Given the description of an element on the screen output the (x, y) to click on. 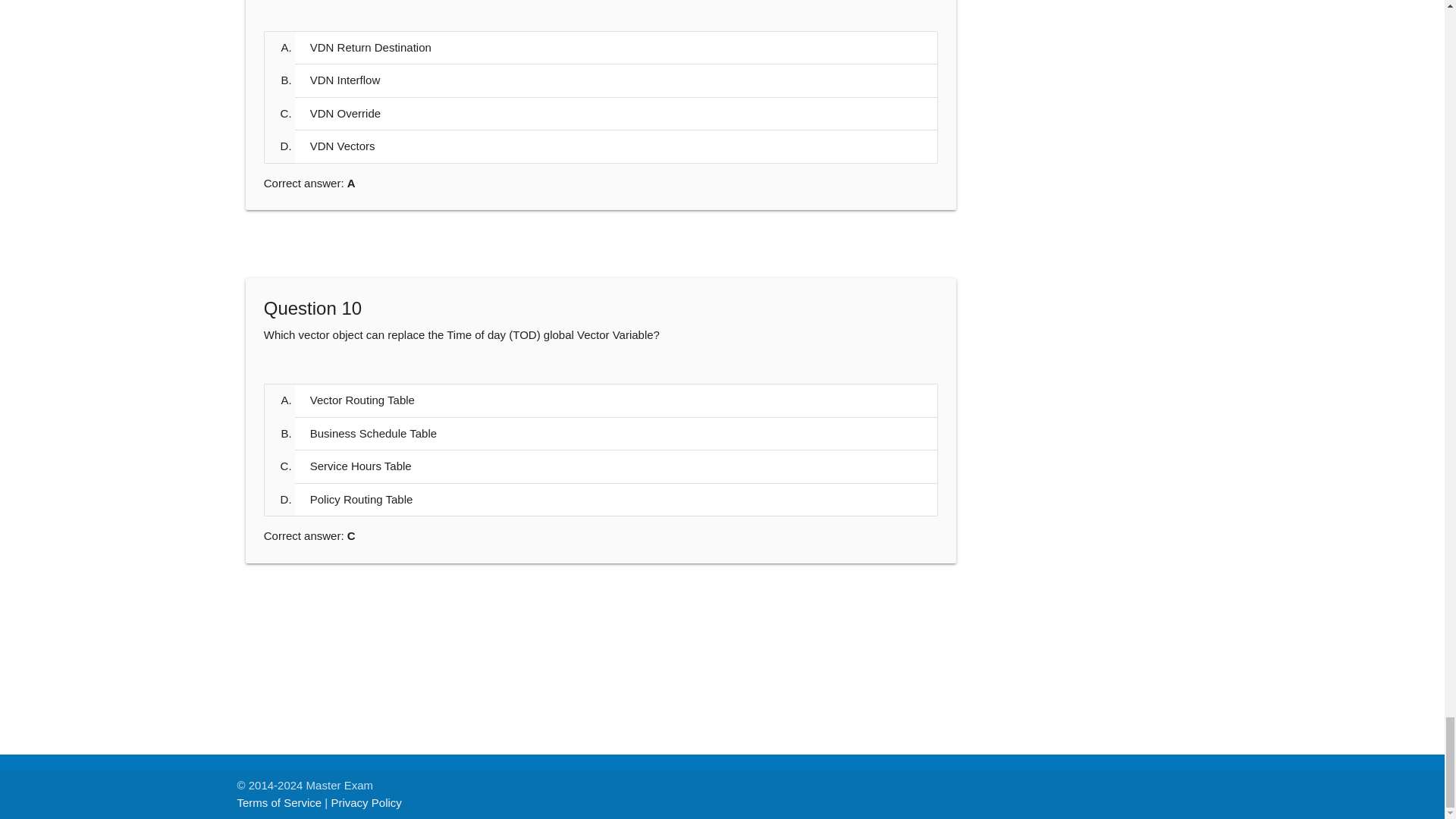
Terms of Service (278, 802)
Privacy Policy (365, 802)
